Given the description of an element on the screen output the (x, y) to click on. 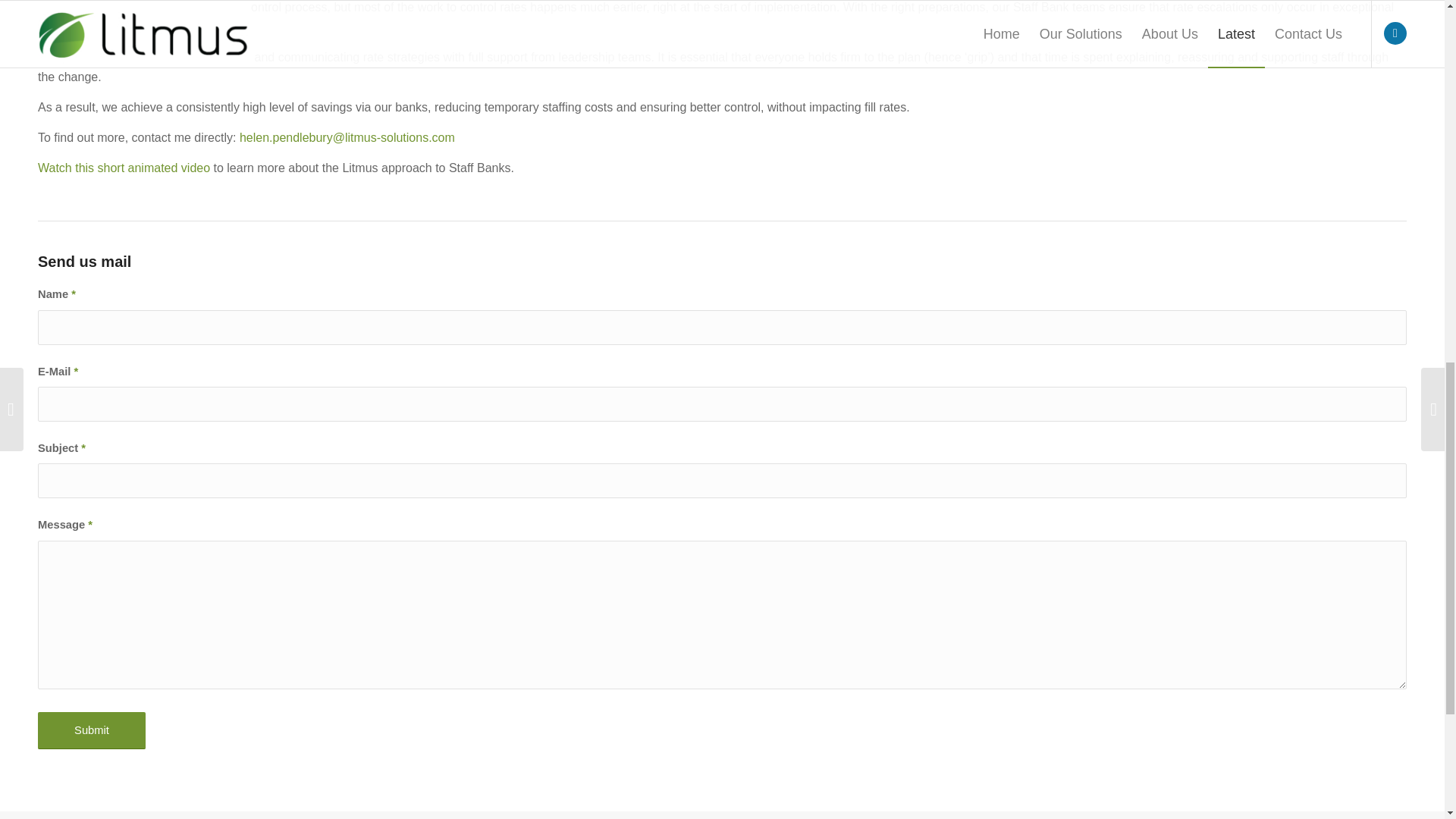
Submit (91, 730)
Submit (91, 730)
Watch this short animated video (123, 167)
